Given the description of an element on the screen output the (x, y) to click on. 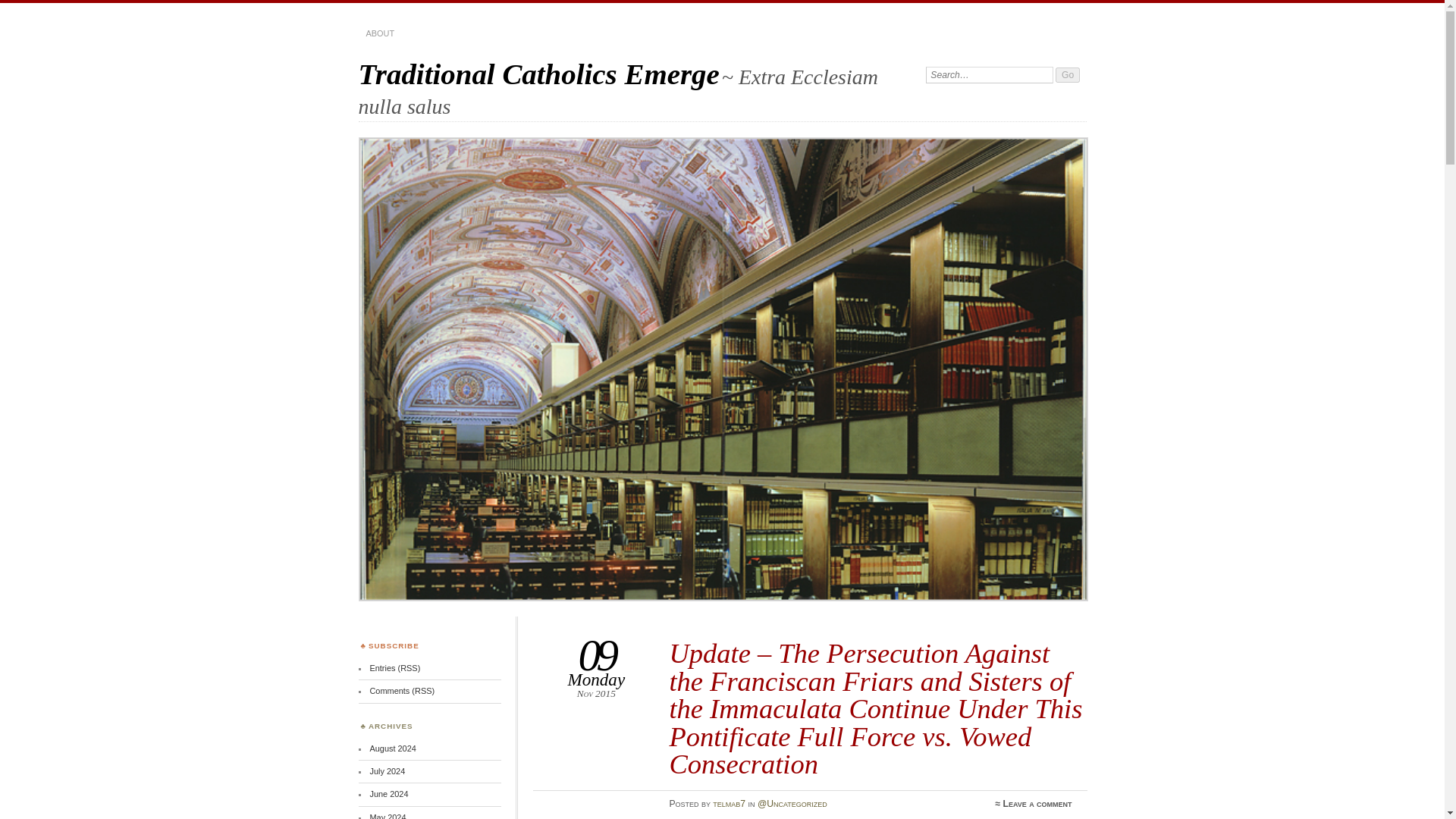
August 2024 (391, 747)
Go (1067, 74)
Traditional Catholics Emerge (538, 73)
telmab7 (729, 803)
View all posts by telmab7 (729, 803)
June 2024 (388, 793)
Leave a comment (1037, 803)
ABOUT (379, 33)
May 2024 (387, 816)
